Given the description of an element on the screen output the (x, y) to click on. 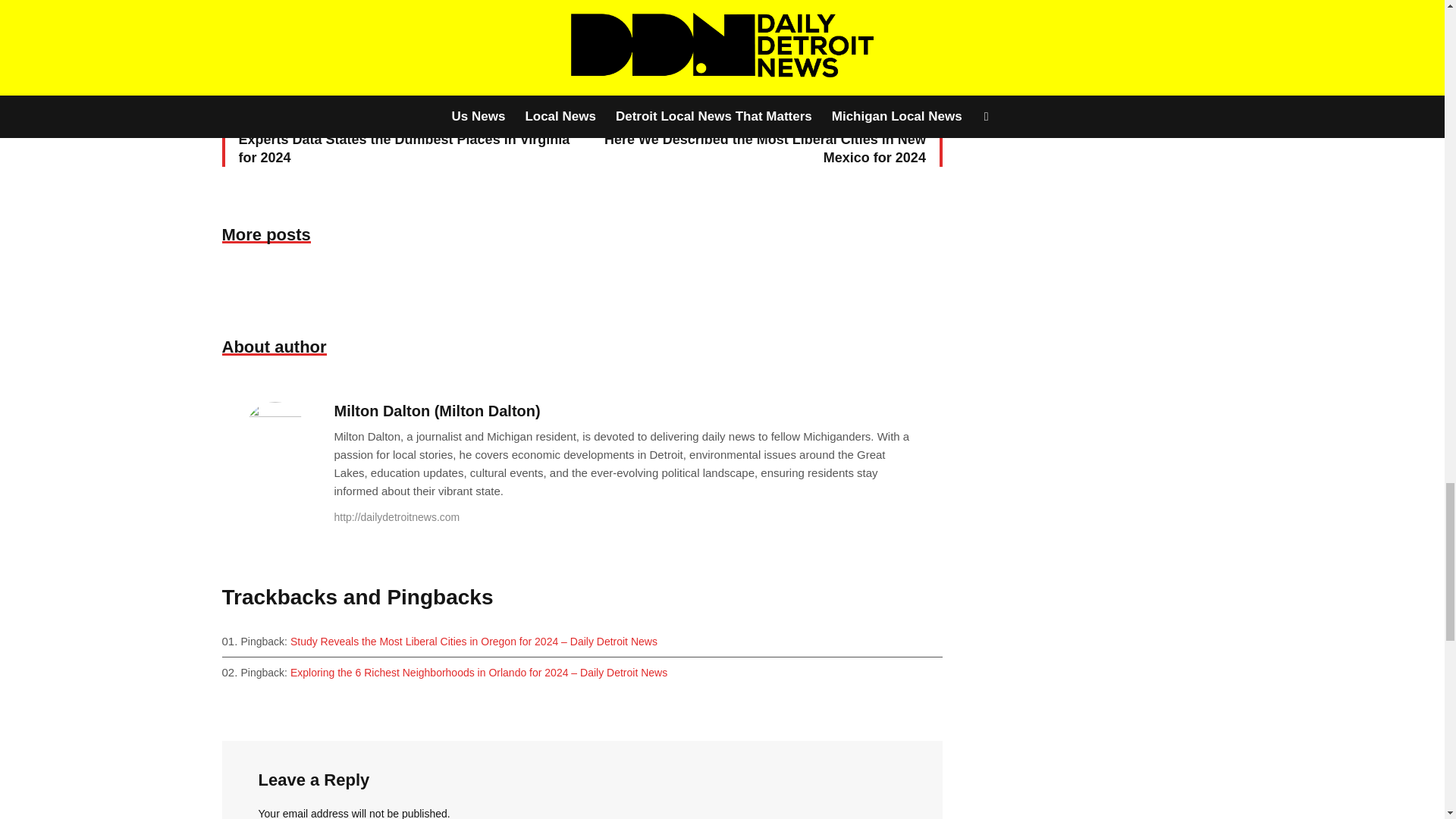
Experts Data States the Dumbest Places In Virginia for 2024 (397, 133)
